Given the description of an element on the screen output the (x, y) to click on. 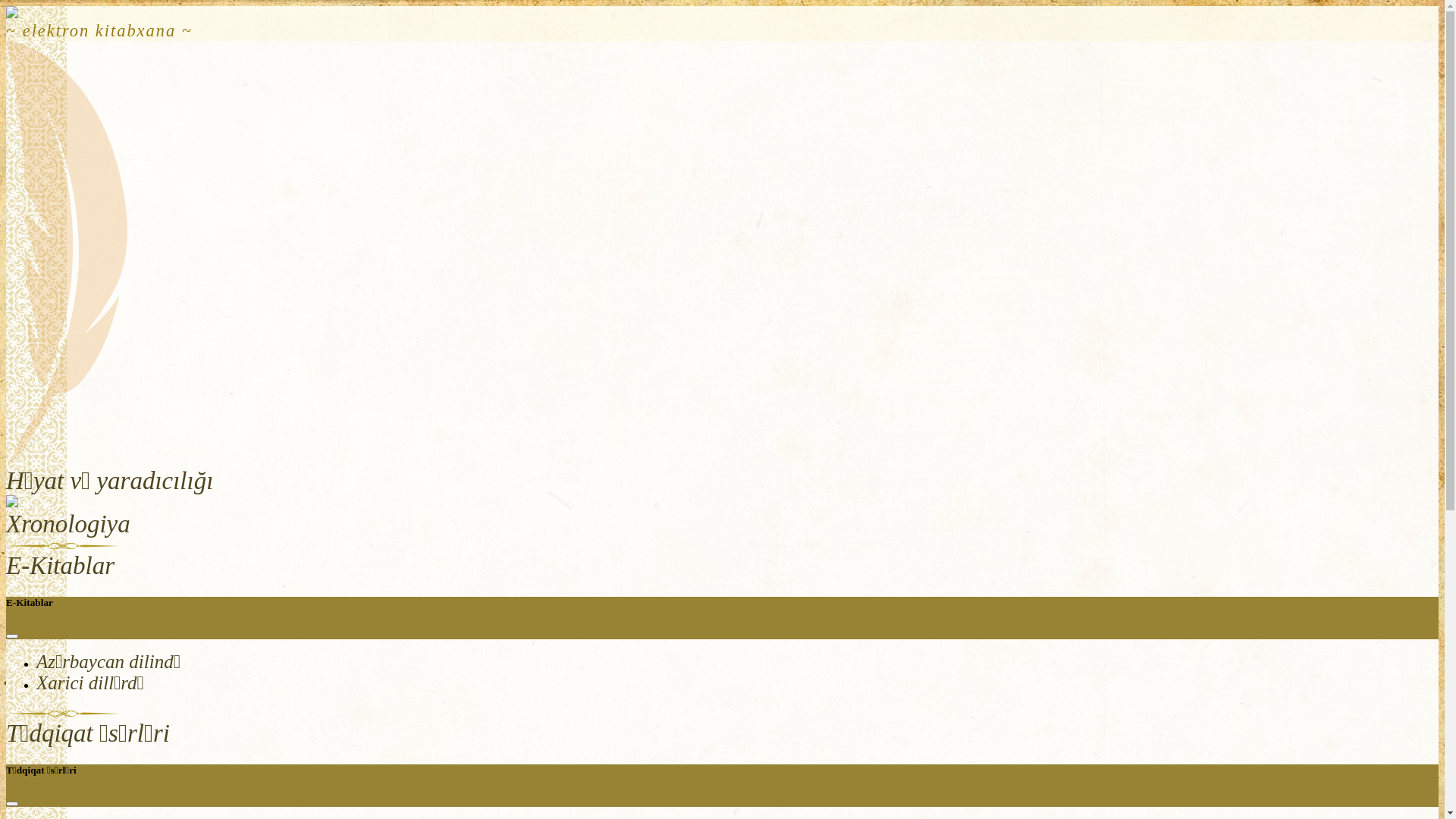
Xronologiya Element type: text (68, 523)
E-Kitablar Element type: text (60, 565)
